Given the description of an element on the screen output the (x, y) to click on. 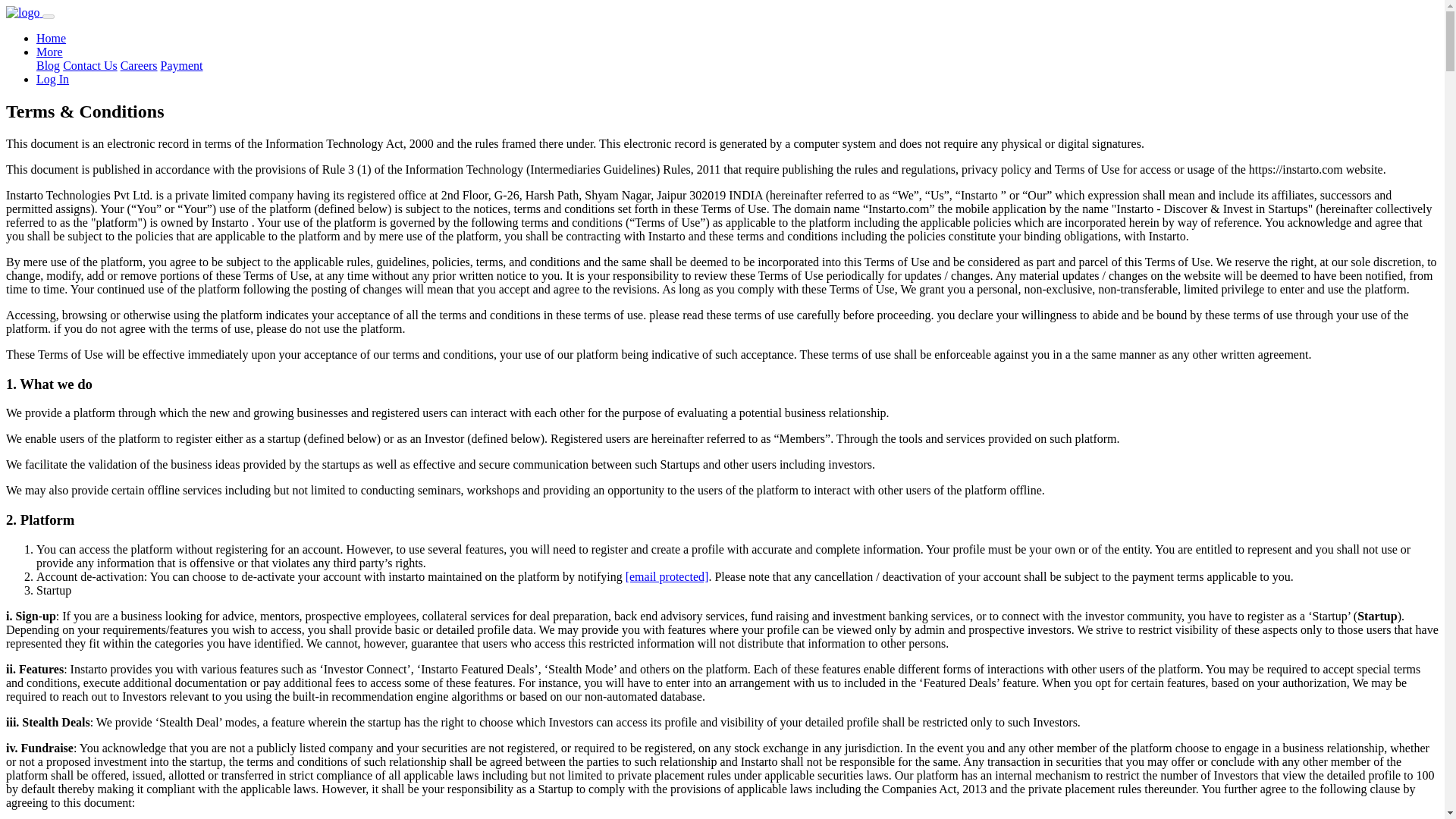
Contact Us (89, 65)
Careers (138, 65)
Home (50, 38)
More (49, 51)
Blog (47, 65)
Log In (52, 78)
Payment (181, 65)
